Given the description of an element on the screen output the (x, y) to click on. 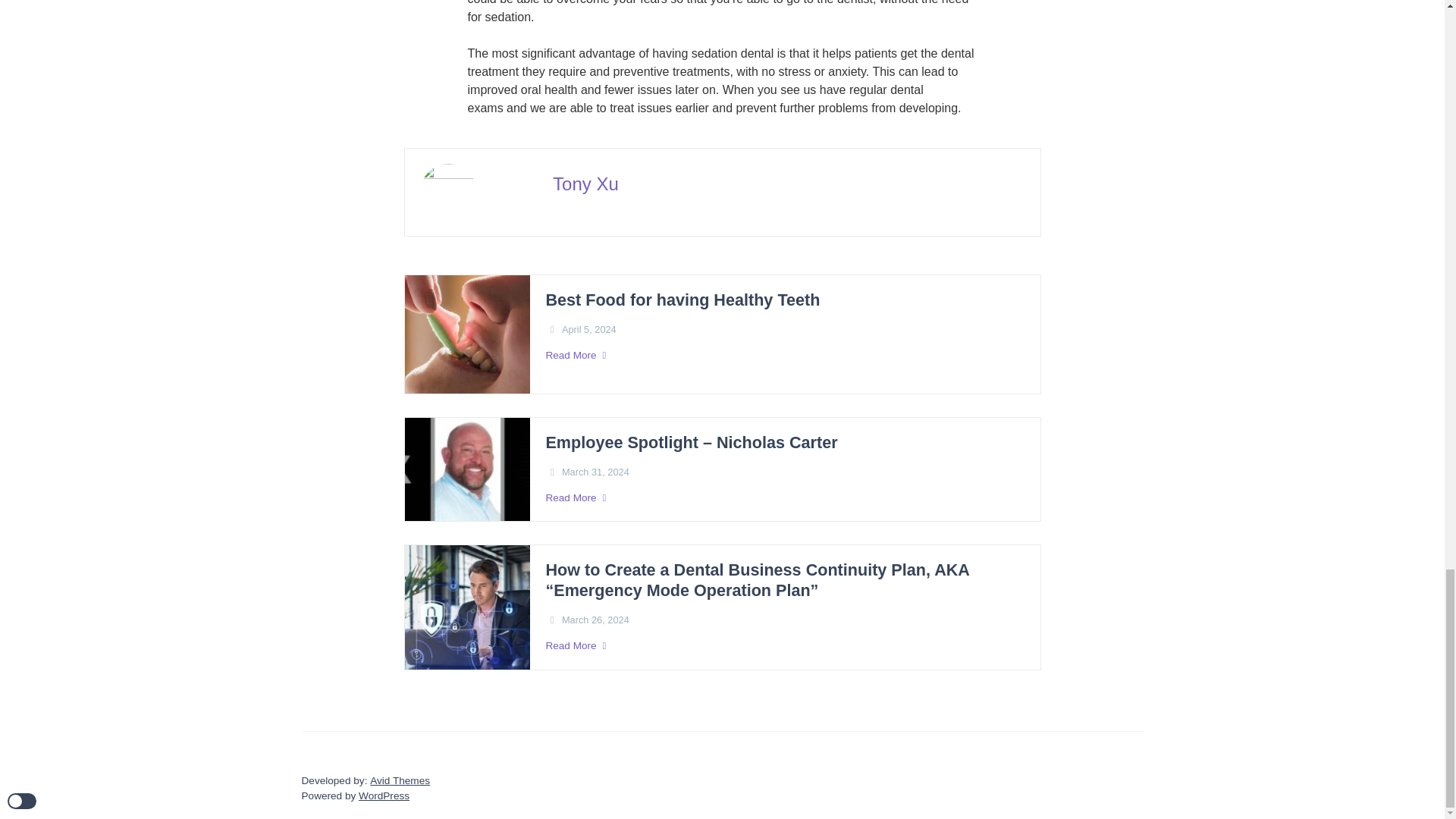
Avid Themes (399, 780)
WordPress (383, 795)
Tony Xu (585, 184)
April 5, 2024 (588, 329)
Read More (784, 645)
March 31, 2024 (595, 472)
Best Food for having Healthy Teeth (681, 300)
Read More (784, 498)
March 26, 2024 (595, 619)
Read More (784, 355)
